Given the description of an element on the screen output the (x, y) to click on. 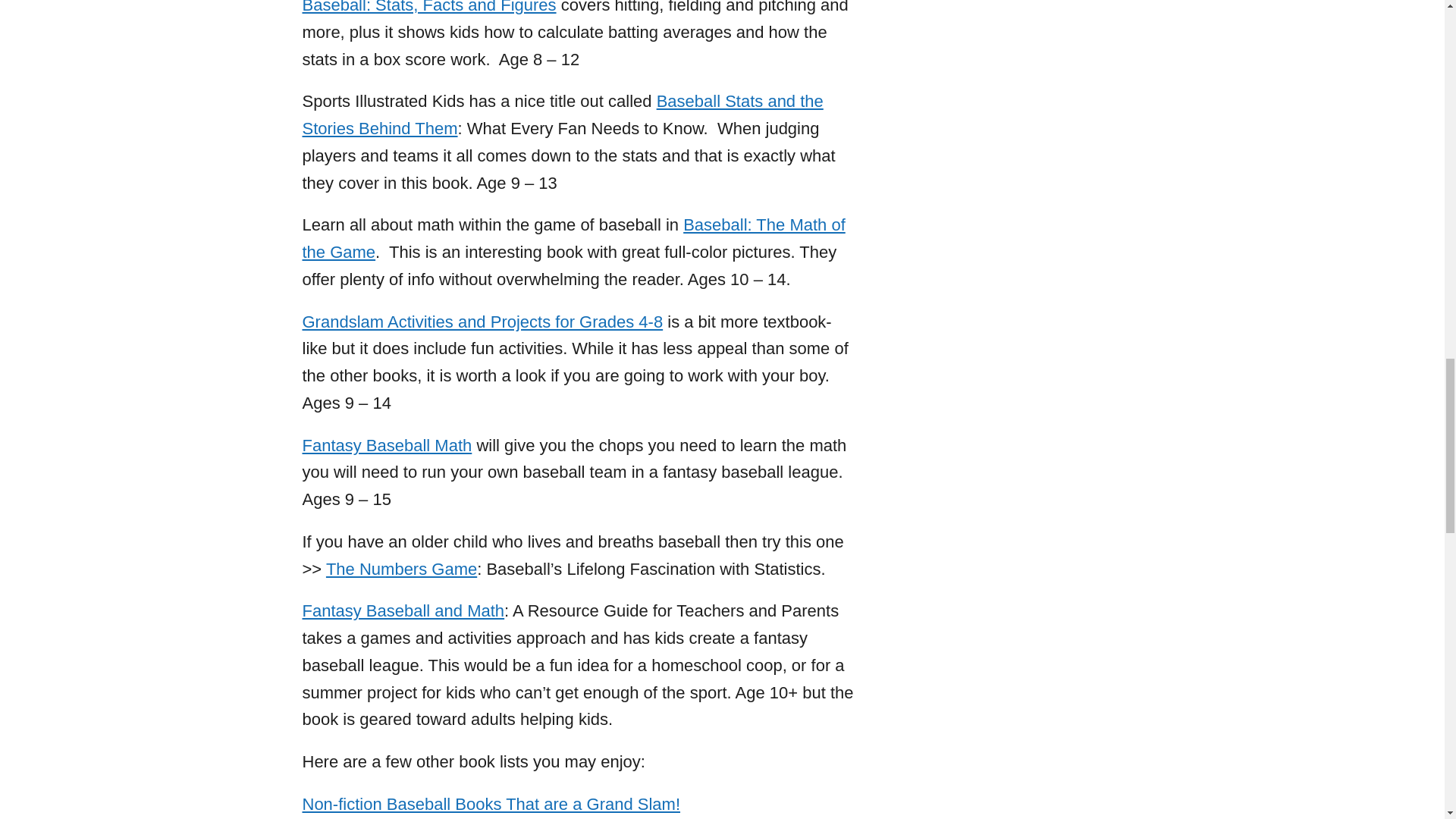
The Numbers Game (401, 568)
Baseball Stats and the Stories Behind Them (561, 114)
Fantasy Baseball Math (386, 445)
Grandslam Activities and Projects for Grades 4-8 (481, 321)
Fantasy Baseball and Math (402, 610)
Non-fiction Baseball Books That are a Grand Slam! (490, 804)
Baseball: Stats, Facts and Figures (428, 7)
Baseball: The Math of the Game (572, 238)
